Given the description of an element on the screen output the (x, y) to click on. 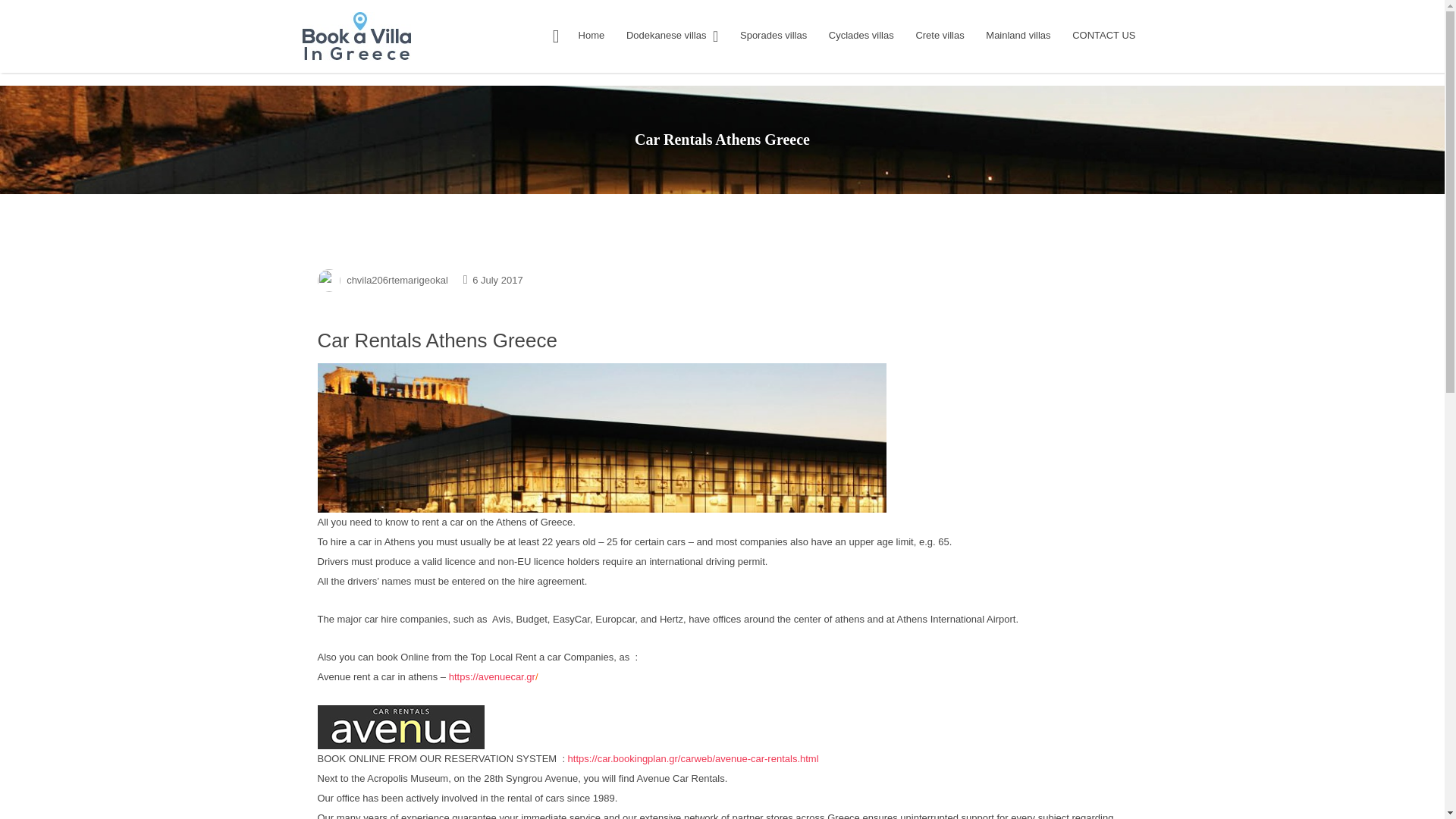
Mainland villas (1017, 35)
Cyclades villas (860, 35)
Dodekanese villas (666, 35)
chvila206rtemarigeokal (397, 279)
CONTACT US (1103, 35)
Crete villas (939, 35)
Sporades villas (772, 35)
Home (591, 35)
Posts by chvila206rtemarigeokal (397, 279)
